Given the description of an element on the screen output the (x, y) to click on. 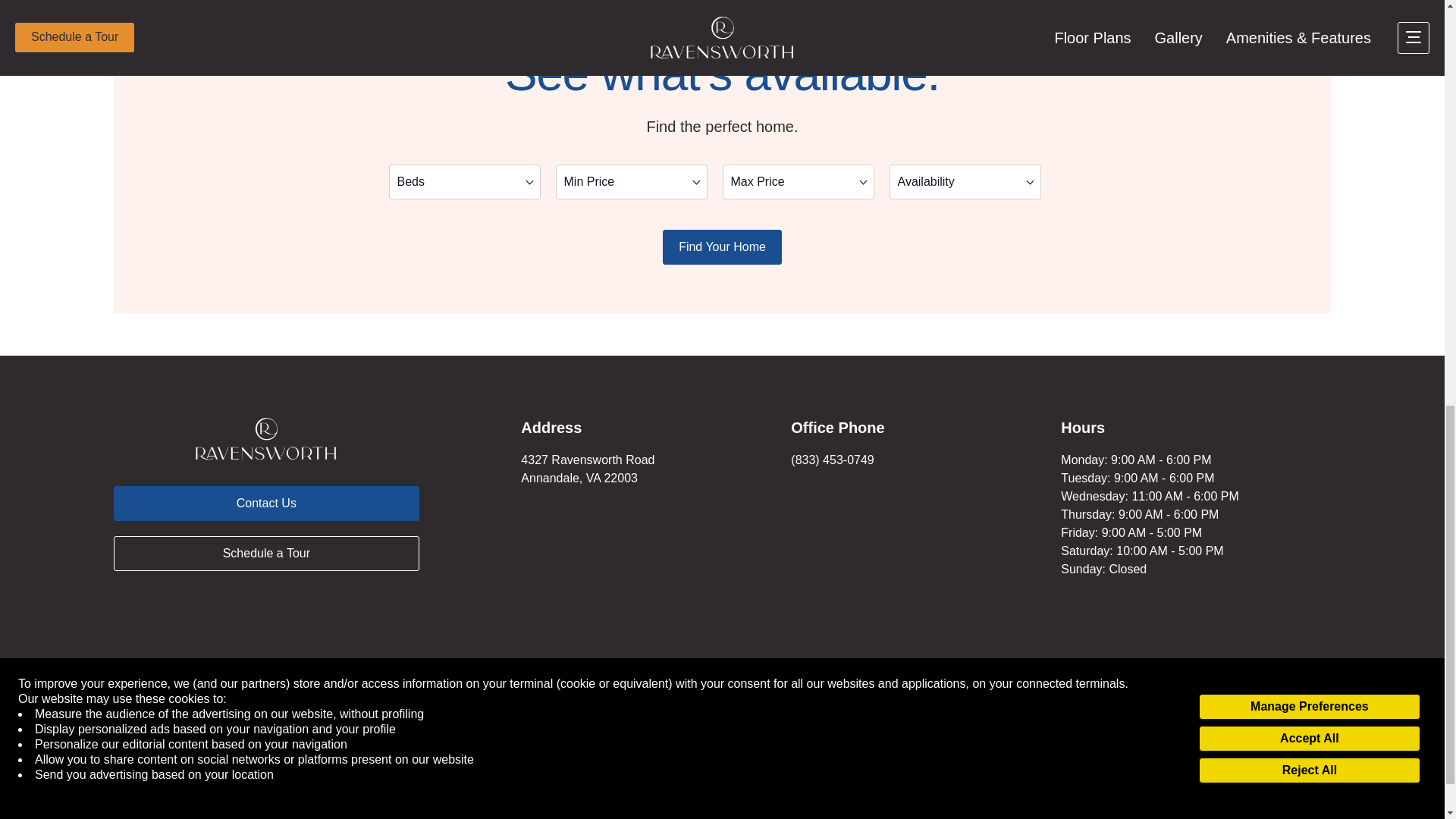
Availability (964, 181)
Find Your Home (721, 247)
Contact Us (266, 503)
Min Price (630, 181)
Max Price (797, 181)
Beds (464, 181)
Schedule a Tour (266, 553)
